Given the description of an element on the screen output the (x, y) to click on. 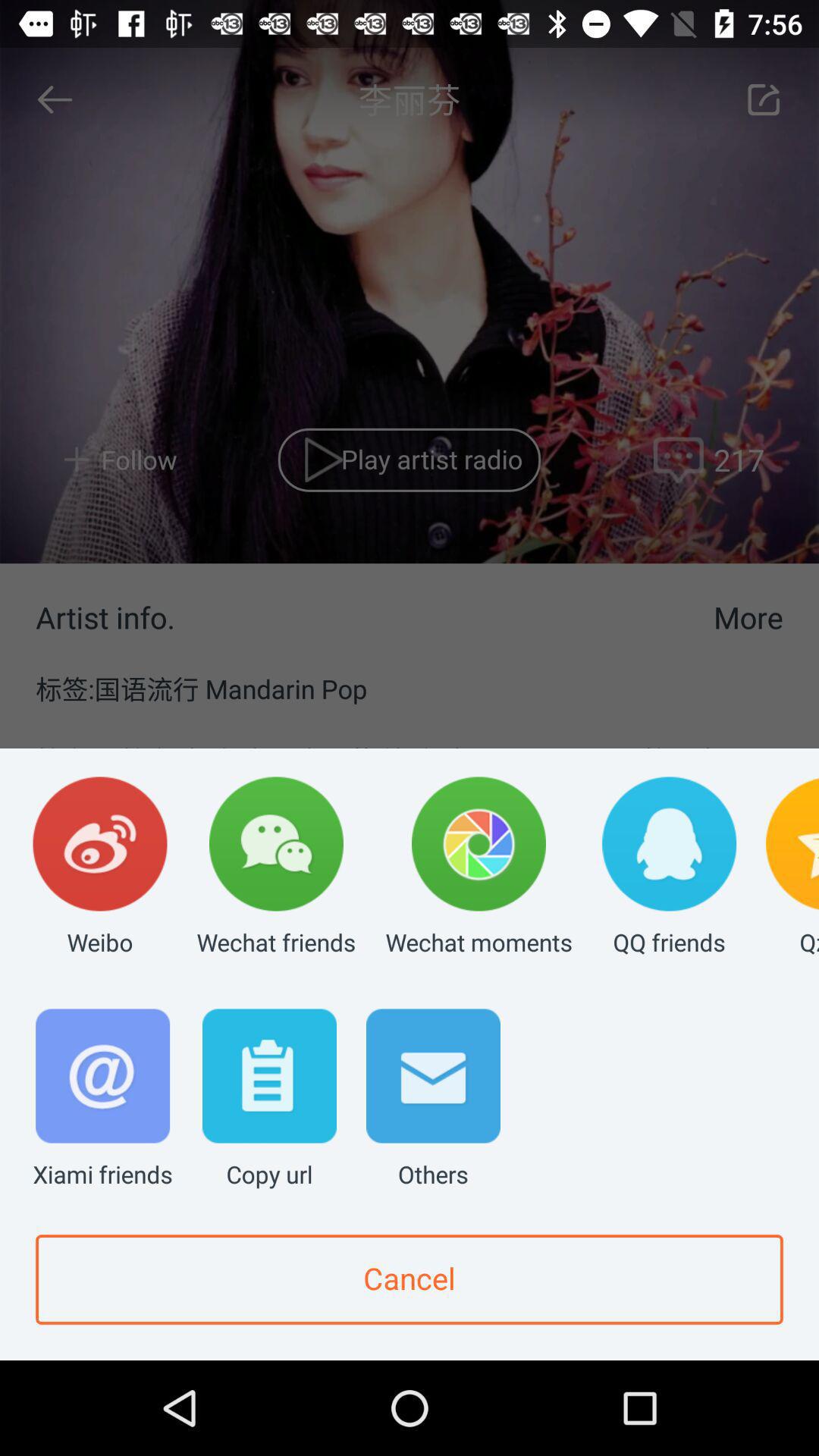
turn off others (433, 1099)
